Given the description of an element on the screen output the (x, y) to click on. 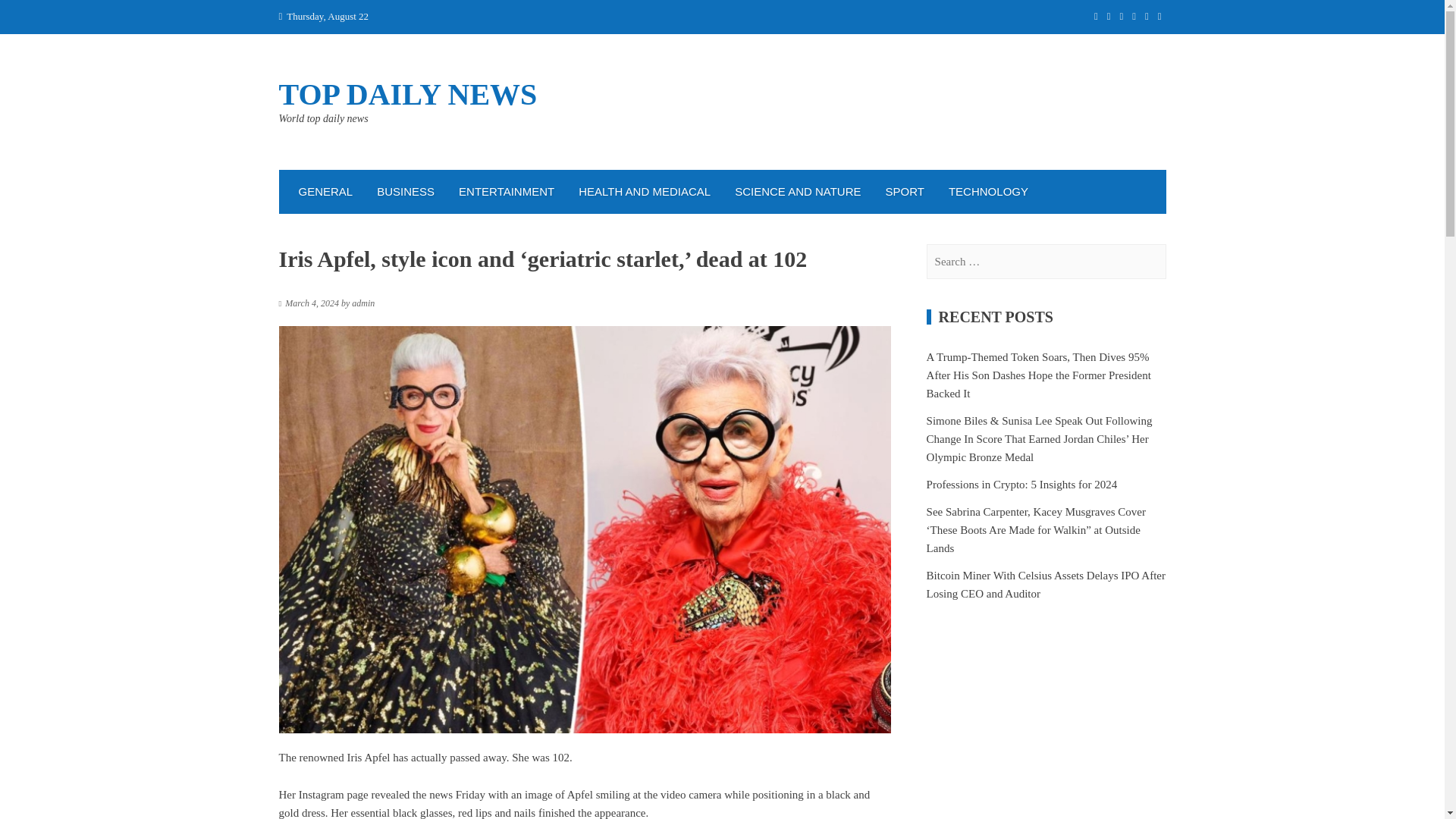
HEALTH AND MEDIACAL (644, 191)
BUSINESS (405, 191)
Professions in Crypto: 5 Insights for 2024 (1022, 484)
ENTERTAINMENT (506, 191)
TOP DAILY NEWS (408, 93)
Search (30, 16)
SPORT (904, 191)
TECHNOLOGY (988, 191)
GENERAL (325, 191)
